Given the description of an element on the screen output the (x, y) to click on. 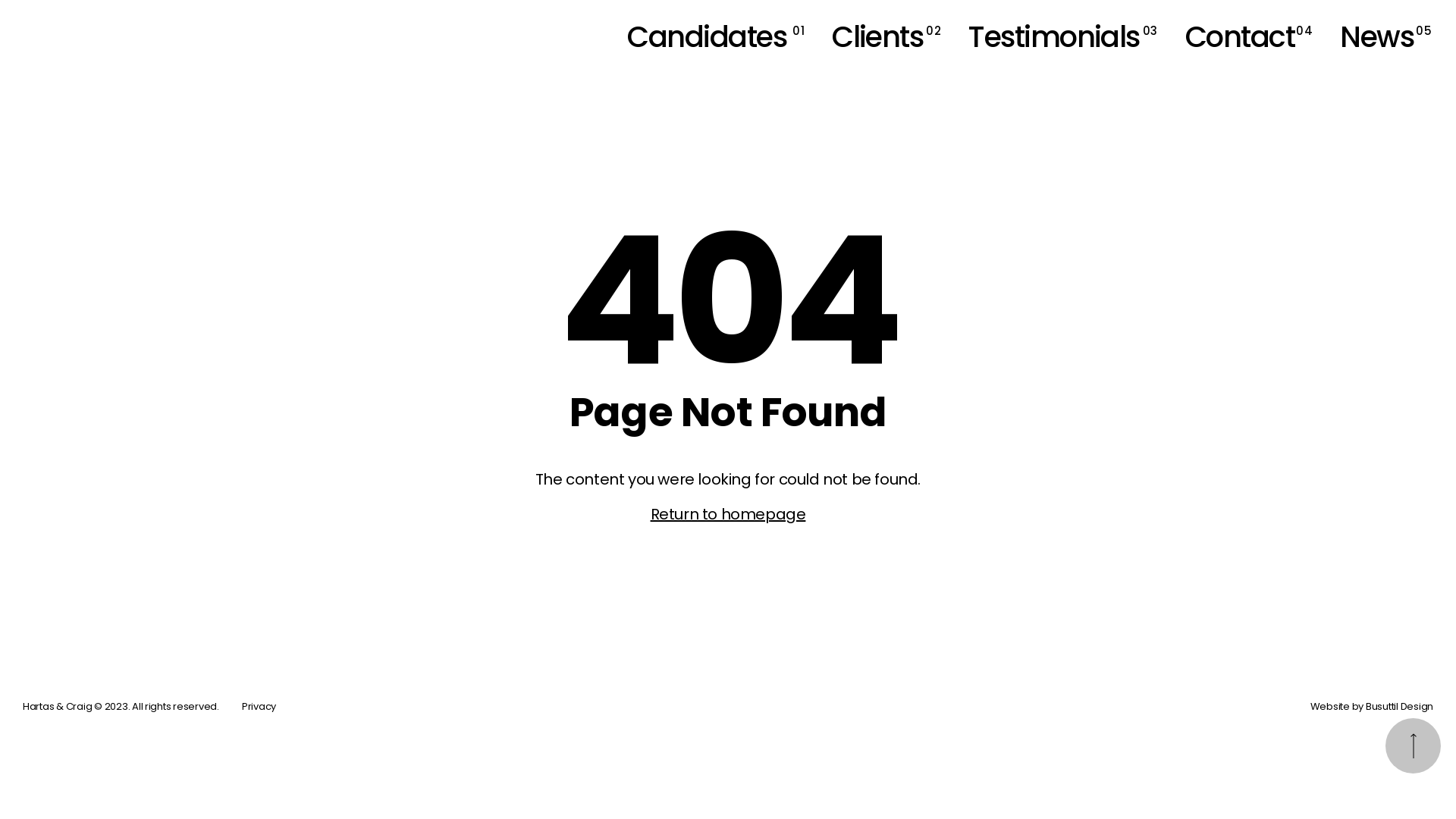
Busuttil Design Element type: text (1399, 706)
Candidates Element type: text (706, 36)
Privacy Element type: text (258, 706)
Return to homepage Element type: text (728, 513)
News Element type: text (1376, 36)
Testimonials Element type: text (1053, 36)
Contact Element type: text (1239, 36)
Clients Element type: text (877, 36)
